Given the description of an element on the screen output the (x, y) to click on. 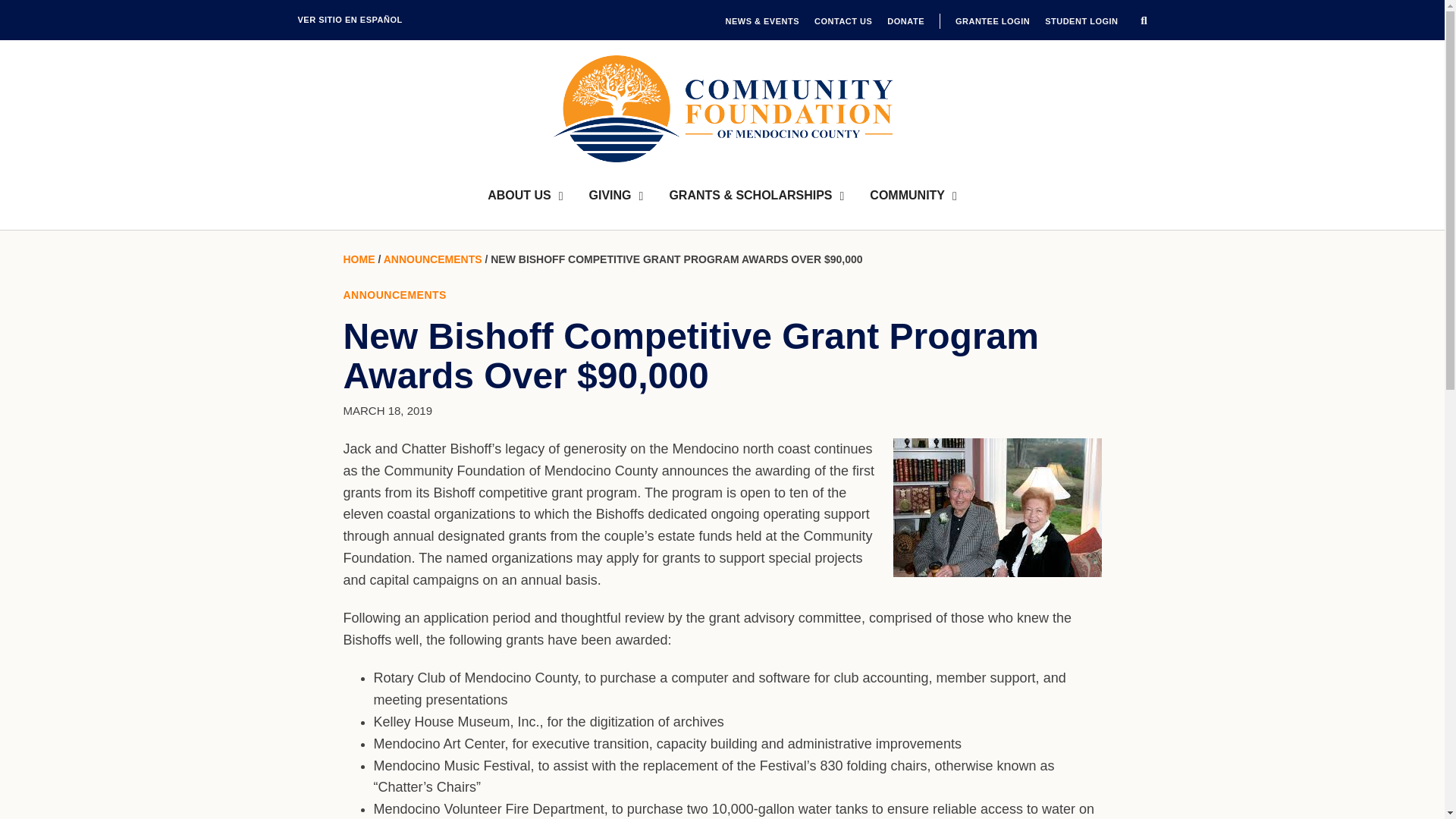
CONTACT US (842, 20)
ABOUT US (525, 195)
GIVING (615, 195)
DONATE (905, 20)
GRANTEE LOGIN (992, 20)
STUDENT LOGIN (1081, 20)
